Given the description of an element on the screen output the (x, y) to click on. 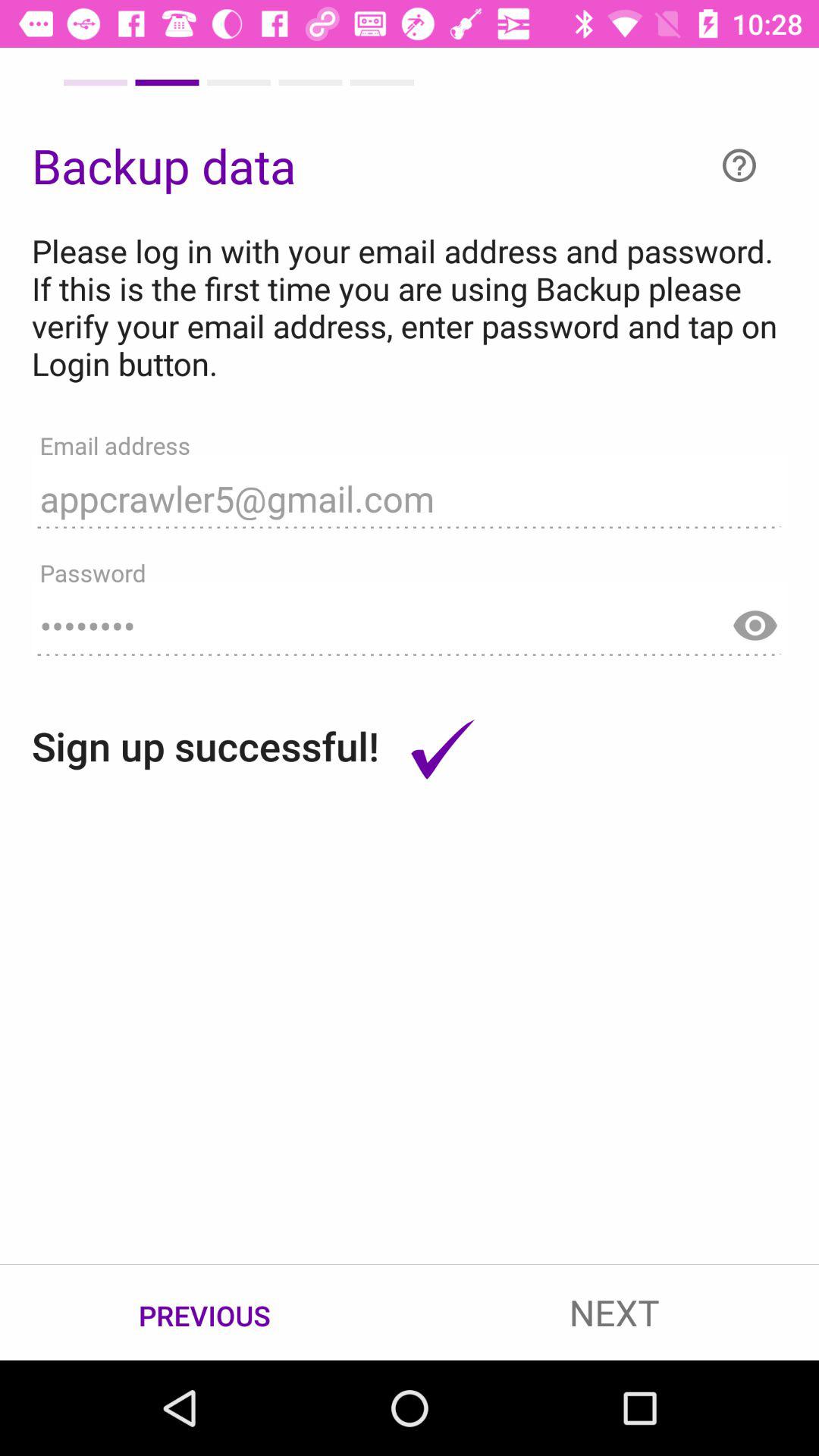
show password (755, 618)
